Given the description of an element on the screen output the (x, y) to click on. 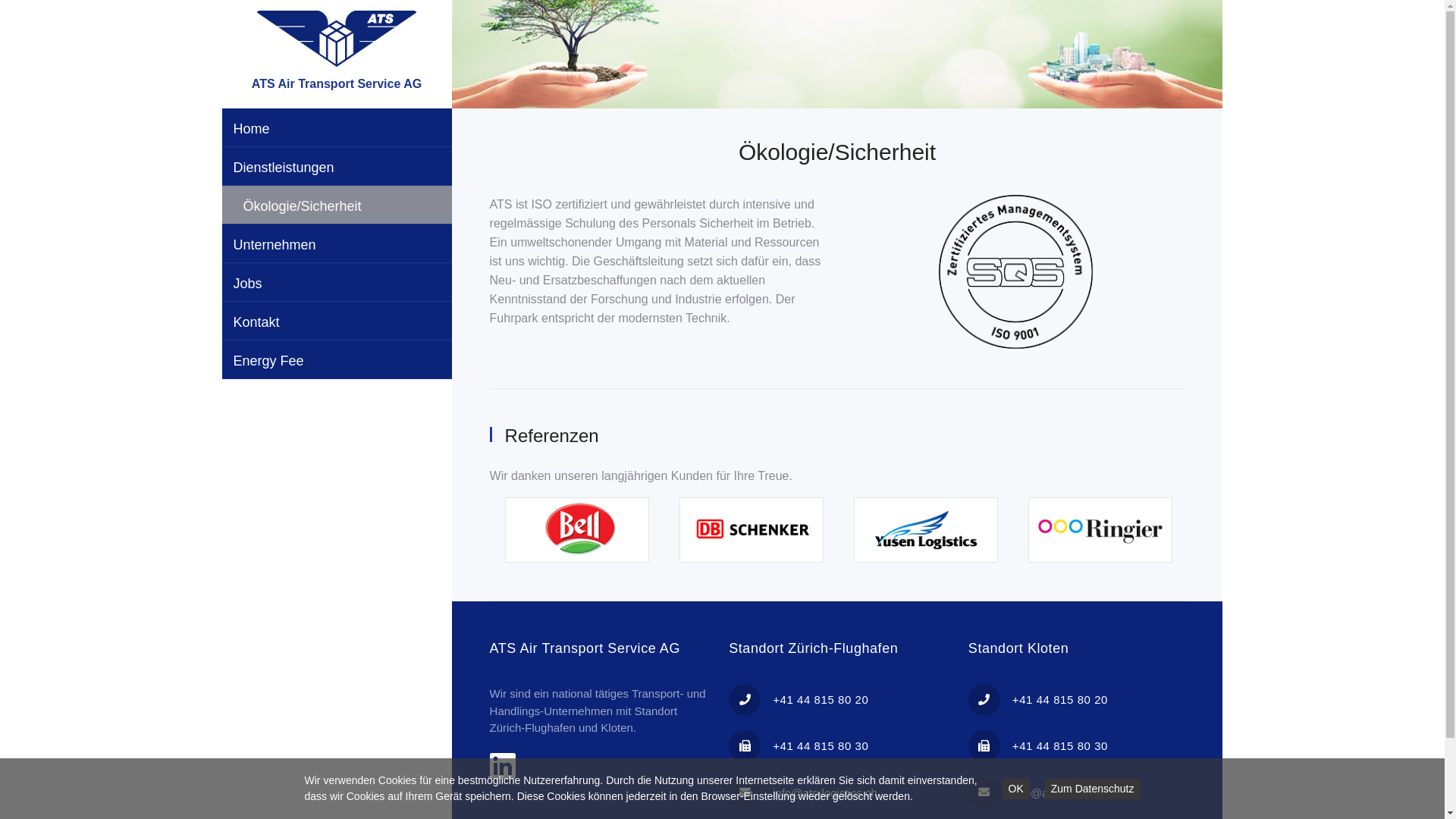
info@ats-logistics.ch Element type: text (824, 792)
Jobs Element type: text (336, 282)
info@ats-logistics.ch Element type: text (1064, 792)
SQS.jpg Element type: hover (1016, 272)
Home Element type: text (336, 127)
OK Element type: text (1015, 788)
Energy Fee Element type: text (336, 359)
Kontakt Element type: text (336, 320)
Dienstleistungen Element type: text (336, 166)
Unternehmen Element type: text (336, 243)
Zum Datenschutz Element type: text (1092, 788)
